Given the description of an element on the screen output the (x, y) to click on. 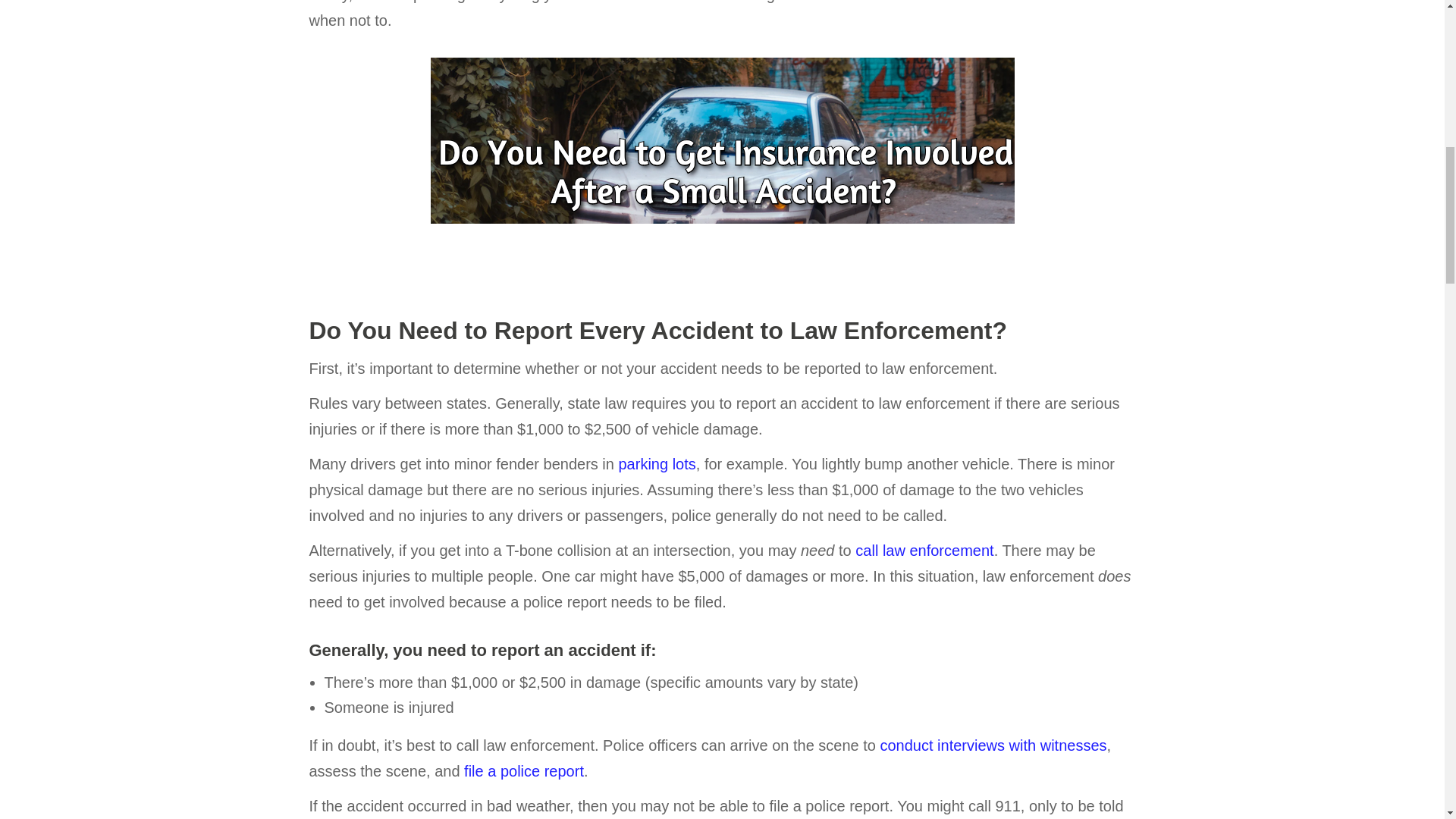
parking lots (656, 463)
file a police report (523, 770)
call law enforcement (924, 550)
conduct interviews with witnesses (992, 745)
